Given the description of an element on the screen output the (x, y) to click on. 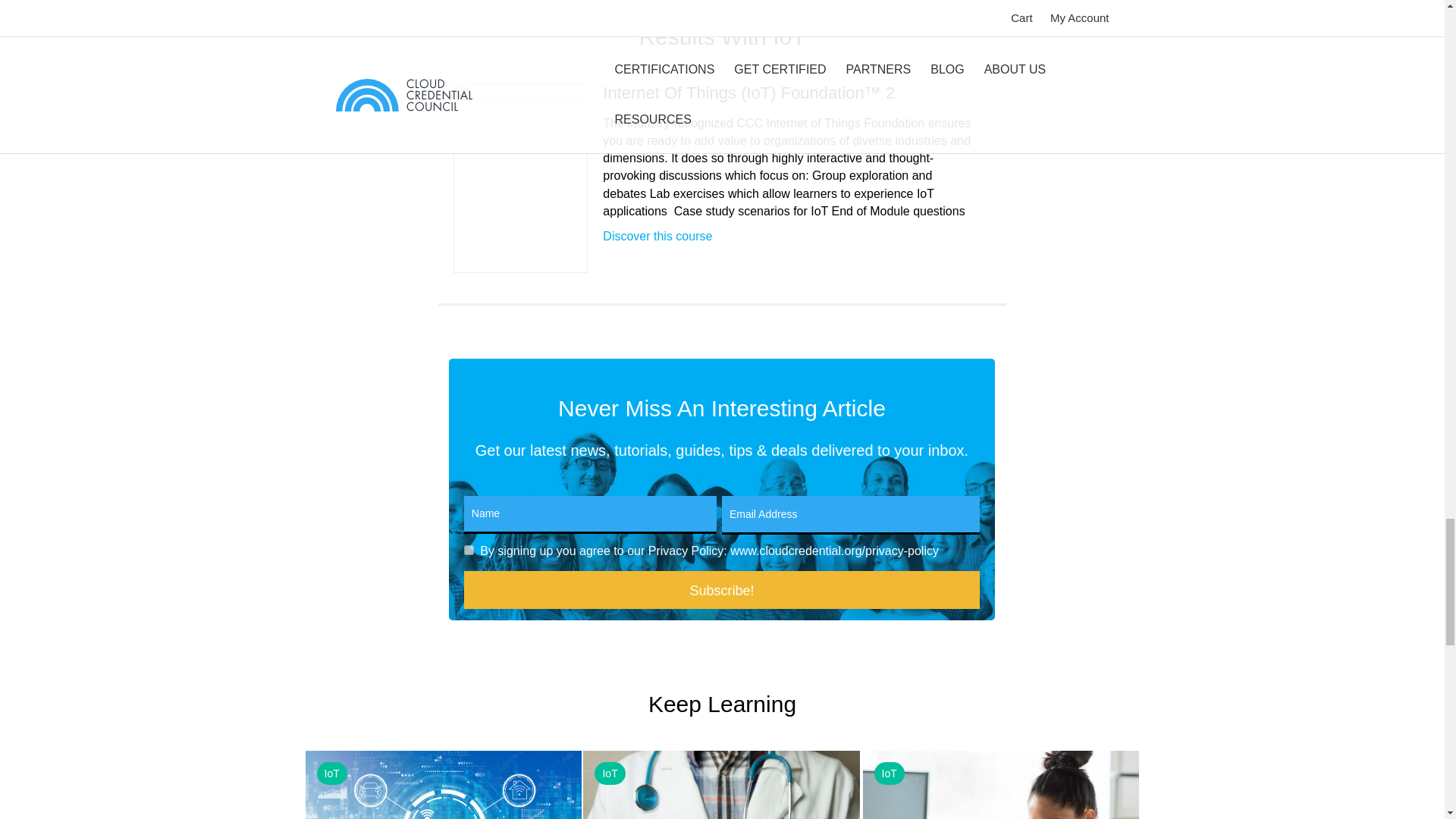
Discover this course (656, 236)
Knowledge byte: Building Blocks of IoT Architecture (442, 785)
iot (442, 785)
1 (469, 550)
